Given the description of an element on the screen output the (x, y) to click on. 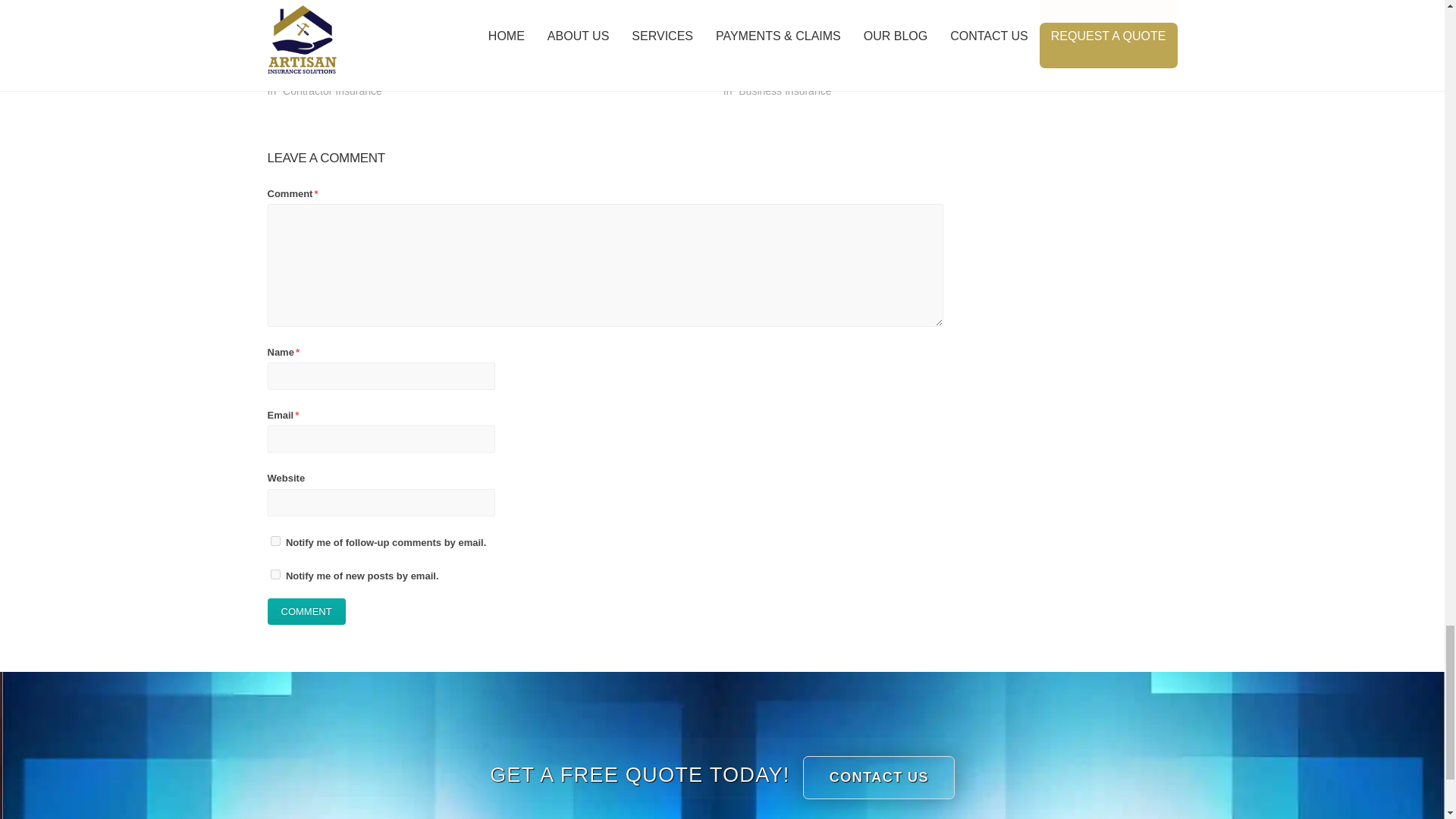
Protect Your Company with Plumbing Contractors Insurance (350, 52)
subscribe (274, 574)
subscribe (274, 541)
What Does Plumbing Insurance Cover? (584, 45)
What Does Plumbing Insurance Cover? (601, 18)
Comment (305, 611)
Protect Your Company with Plumbing Contractors Insurance (373, 18)
